Given the description of an element on the screen output the (x, y) to click on. 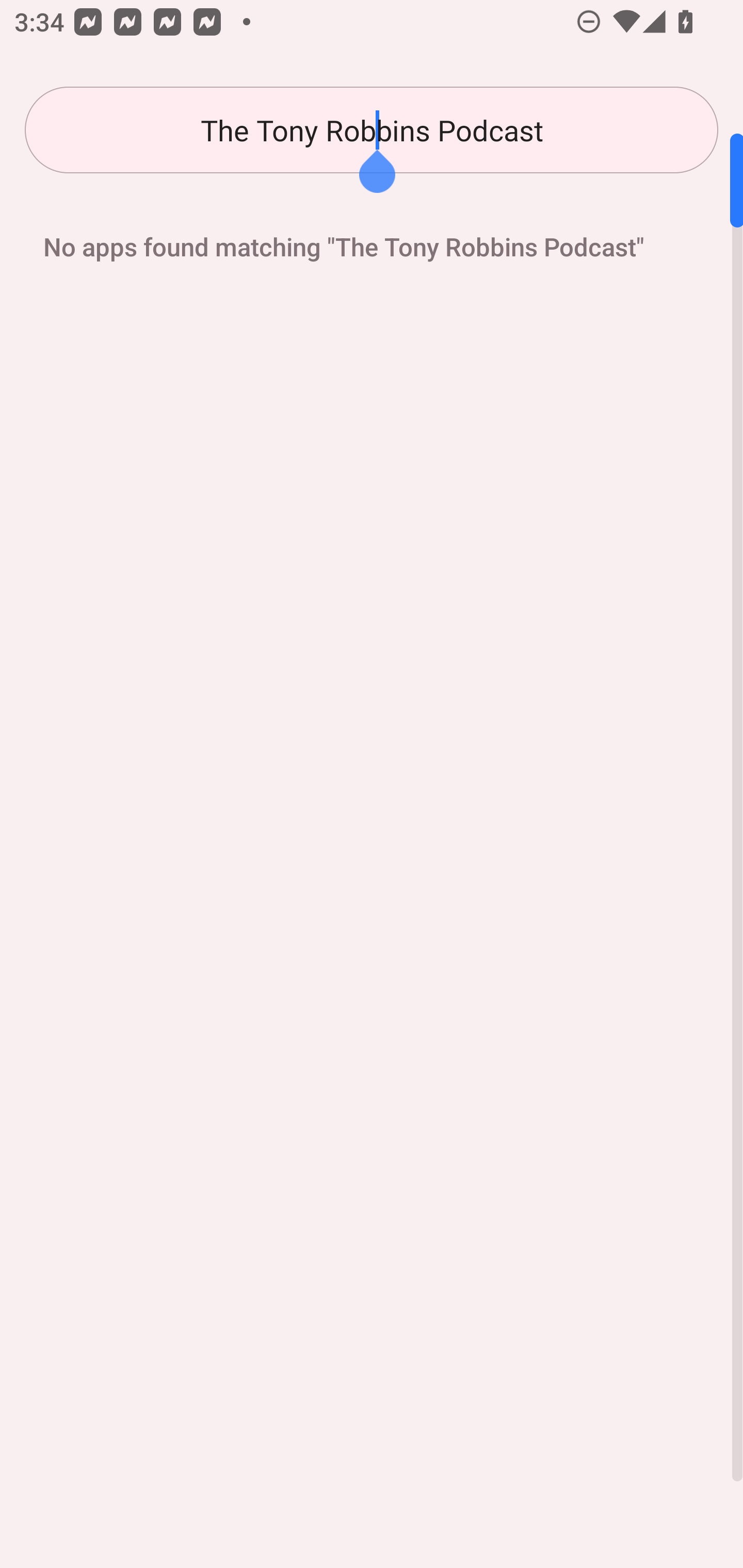
The Tony Robbins Podcast (371, 130)
